Given the description of an element on the screen output the (x, y) to click on. 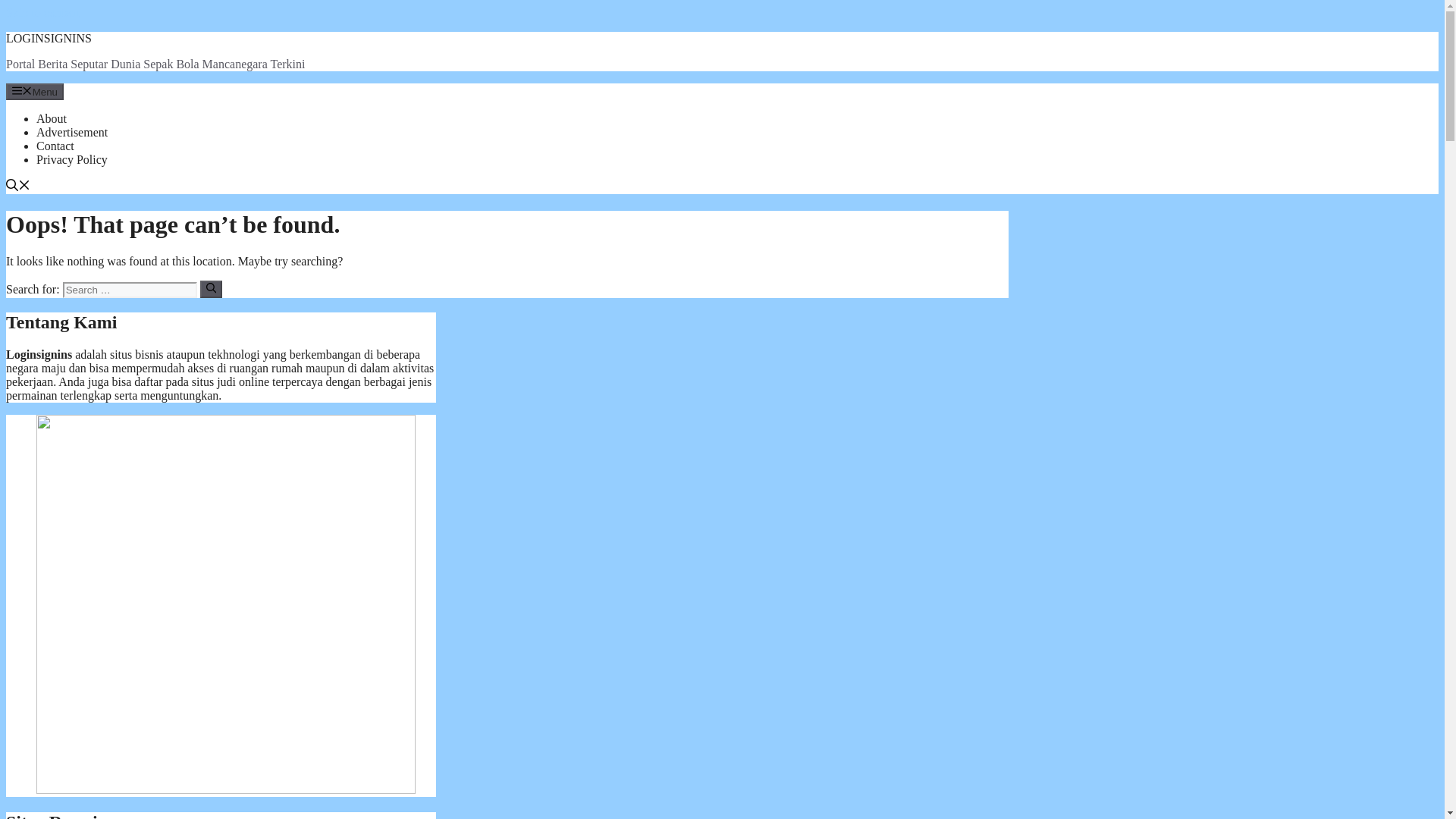
Menu (34, 91)
Privacy Policy (71, 159)
Skip to content (42, 11)
About (51, 118)
Contact (55, 145)
LOGINSIGNINS (48, 38)
Search for: (129, 289)
Skip to content (42, 11)
Advertisement (71, 132)
